Given the description of an element on the screen output the (x, y) to click on. 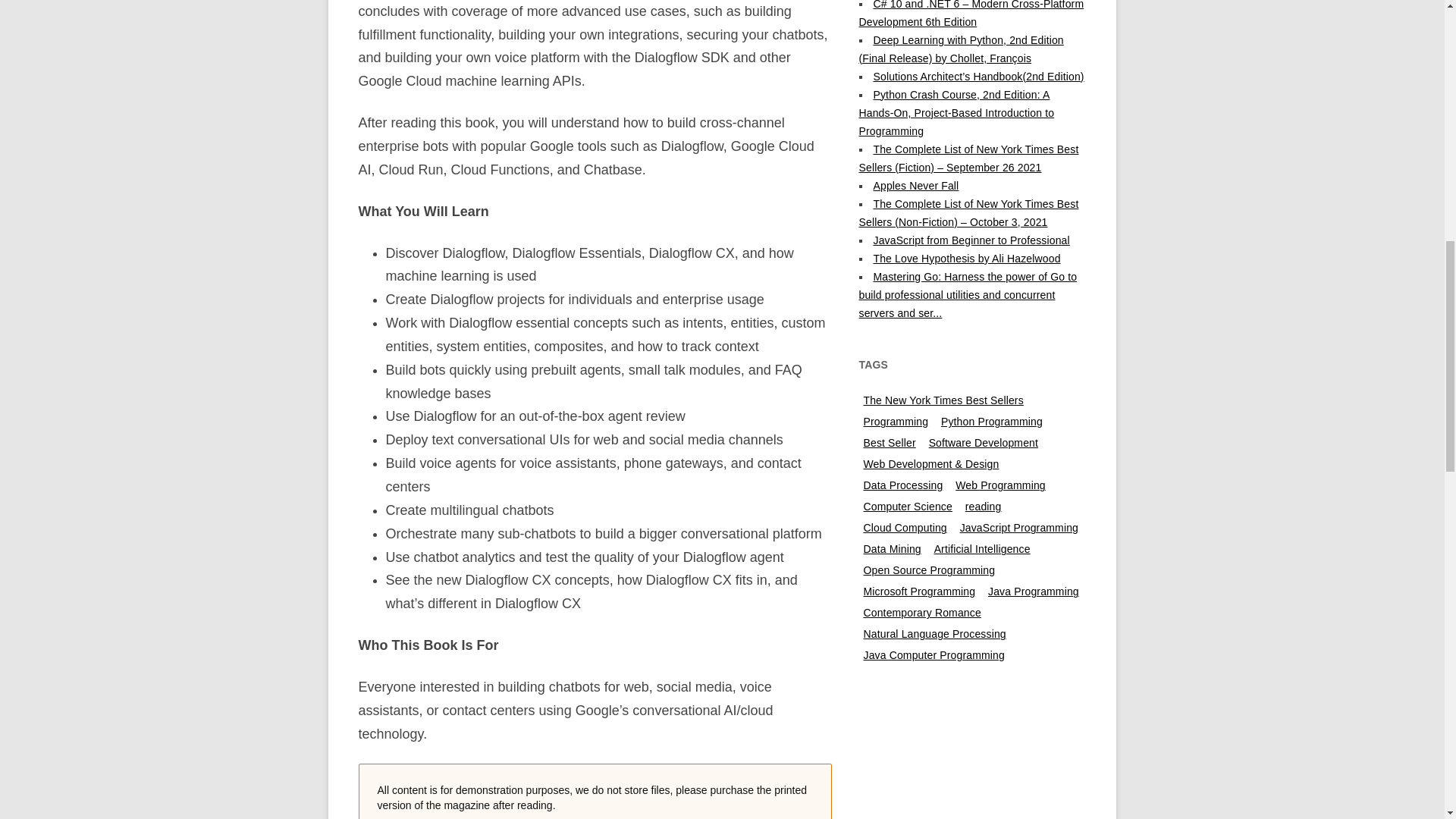
JavaScript from Beginner to Professional (971, 240)
Apples Never Fall (916, 185)
The Love Hypothesis by Ali Hazelwood (967, 258)
